Given the description of an element on the screen output the (x, y) to click on. 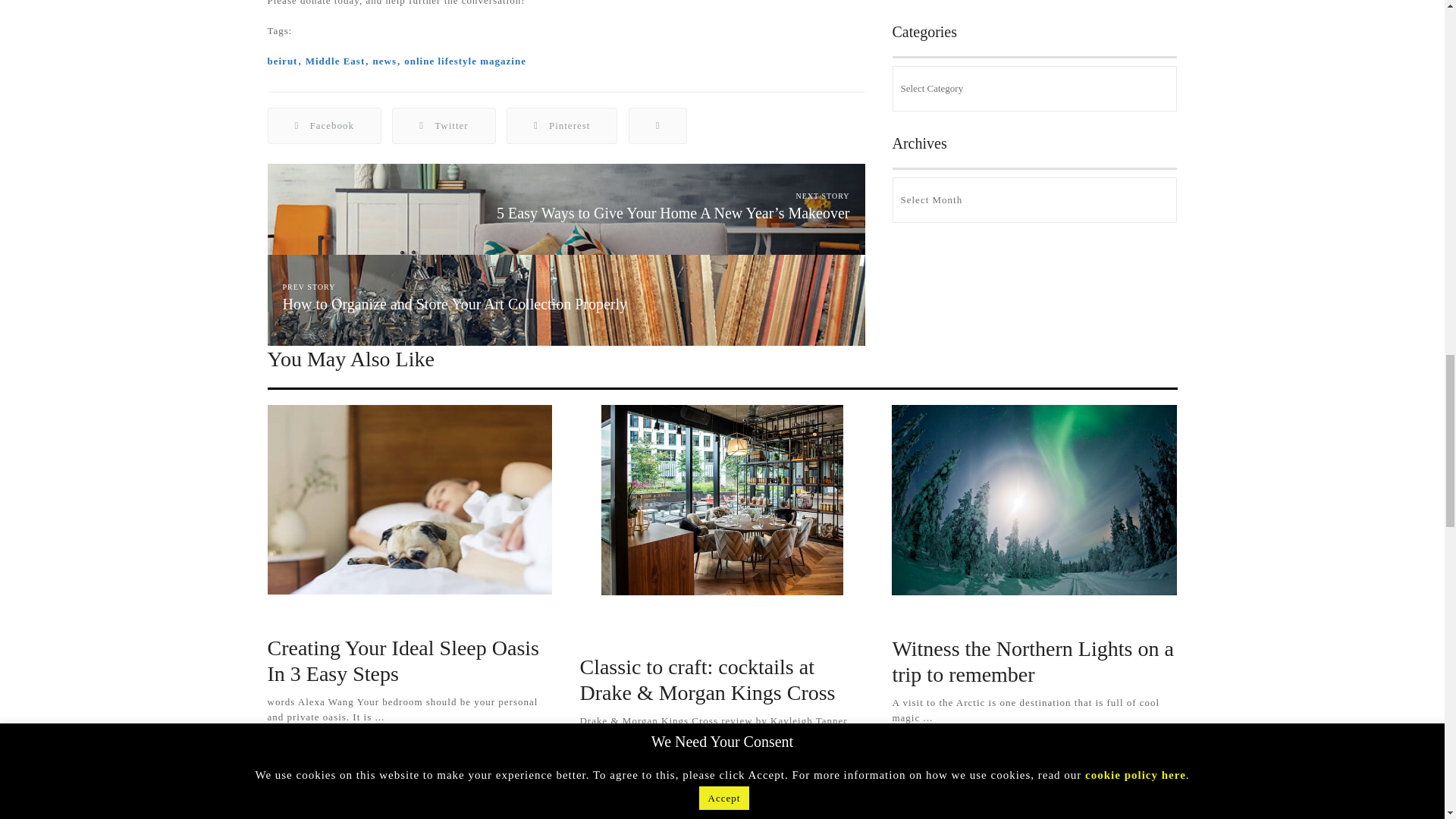
View all posts in 1853 (377, 617)
View all posts in 1431 (720, 617)
View all posts in 1599 (641, 636)
View all posts in 1516 (595, 617)
View all posts in 1431 (293, 617)
View all posts in 606 (790, 617)
View all posts in 2493 (652, 617)
View all posts in 1431 (919, 617)
